Given the description of an element on the screen output the (x, y) to click on. 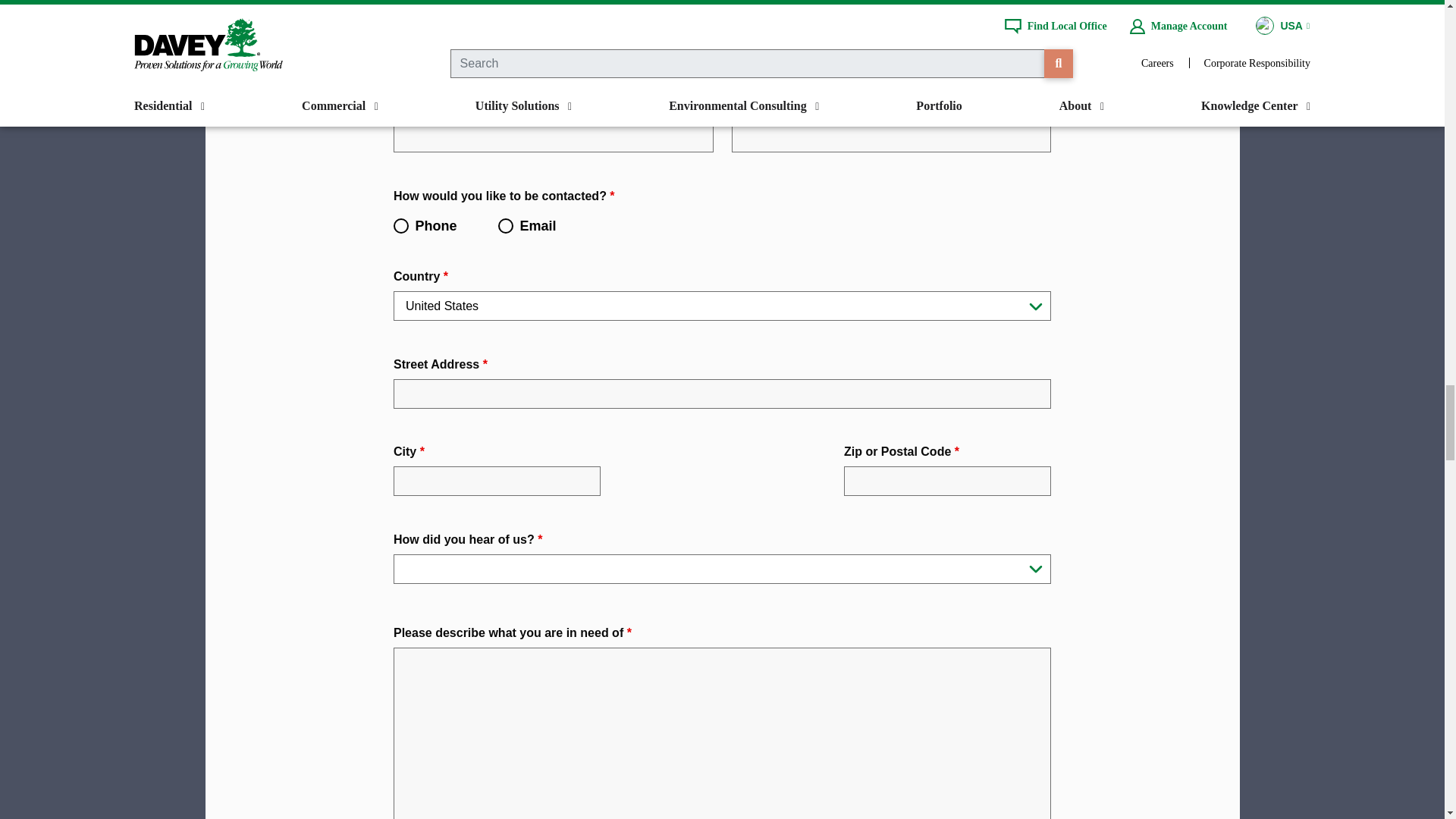
Phone (400, 225)
Email (504, 225)
